Given the description of an element on the screen output the (x, y) to click on. 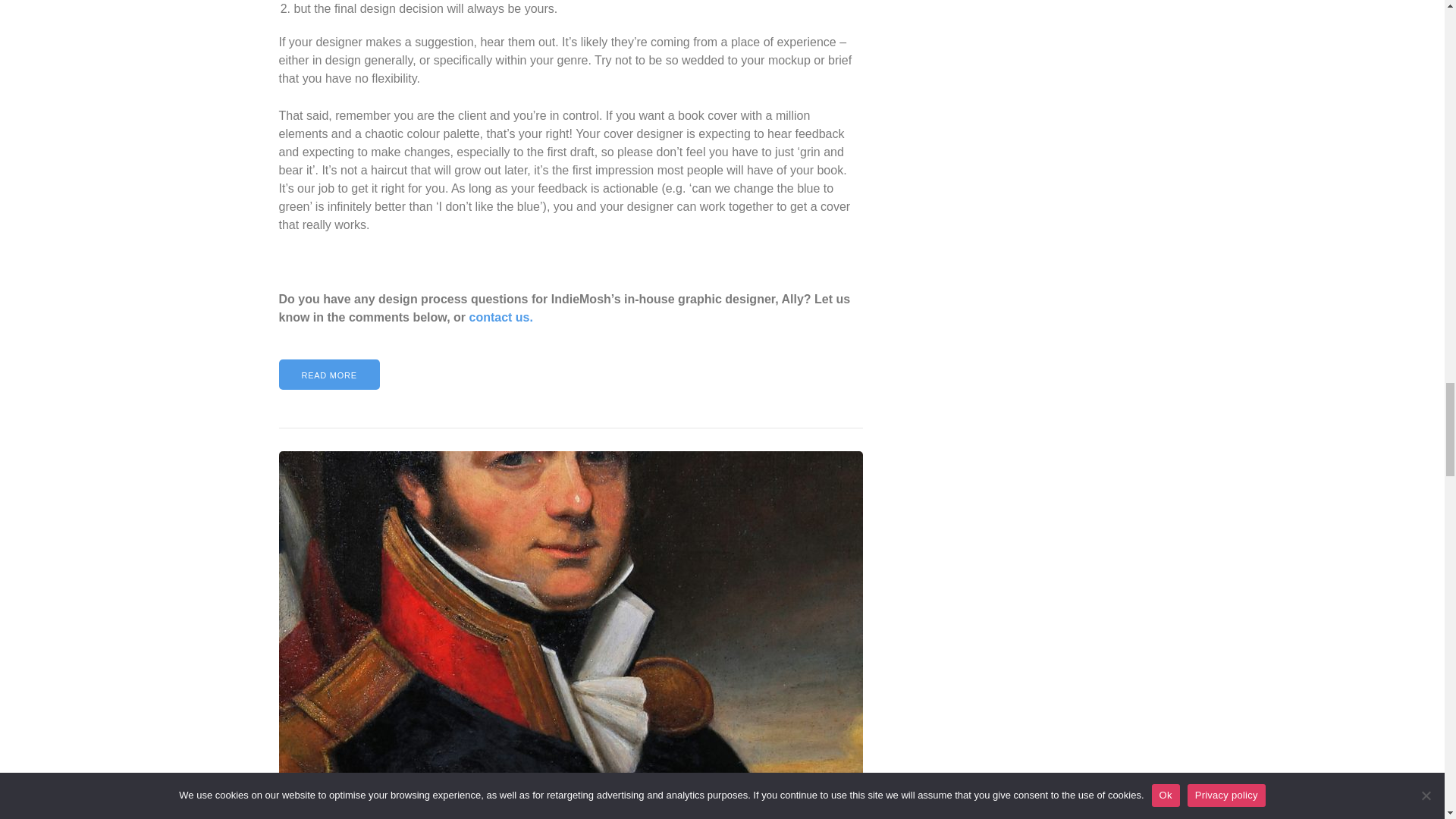
Read More (329, 374)
